Given the description of an element on the screen output the (x, y) to click on. 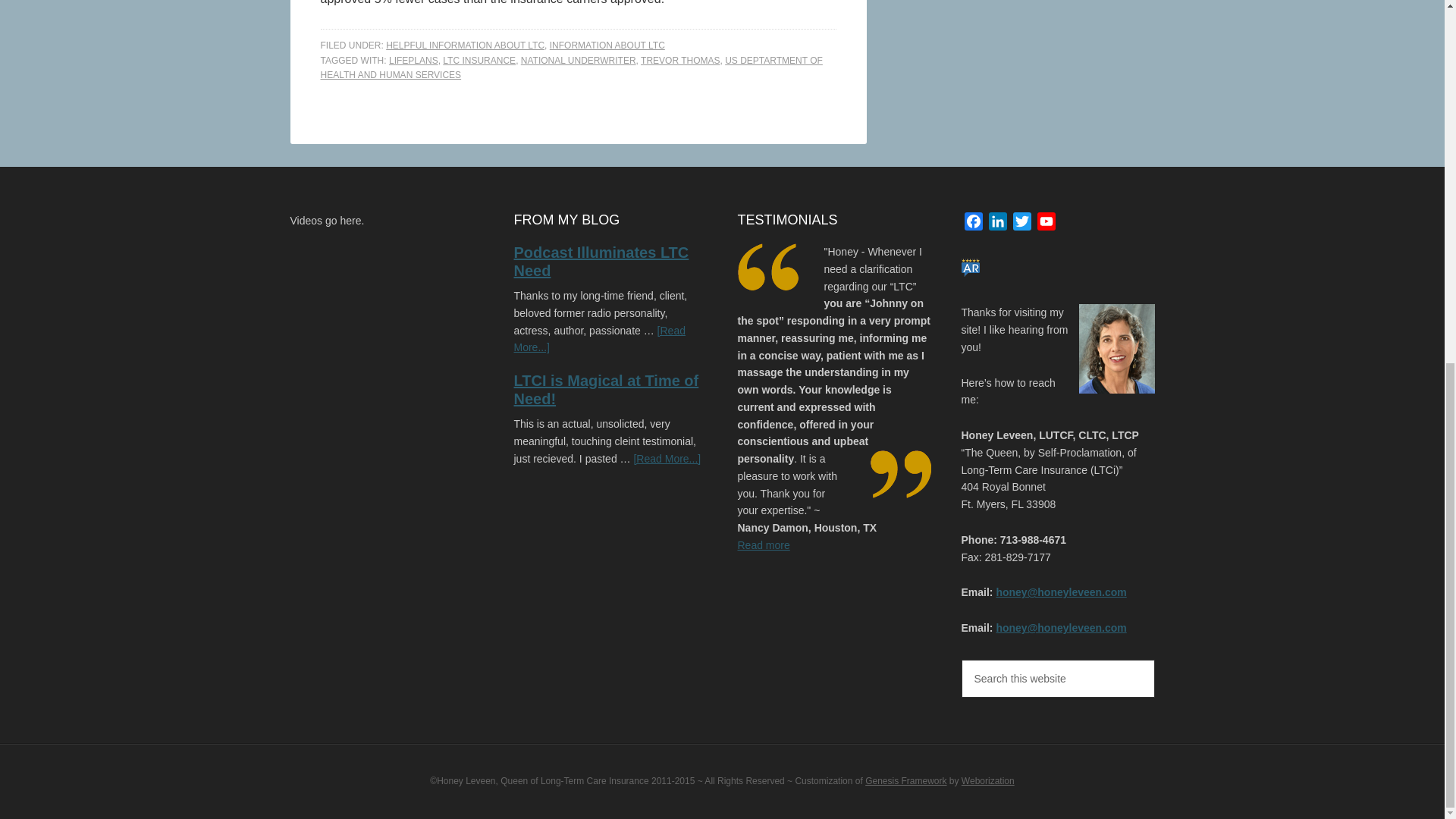
Podcast Illuminates LTC Need (600, 261)
LIFEPLANS (413, 60)
Twitter (1021, 223)
HELPFUL INFORMATION ABOUT LTC (464, 45)
LinkedIn (997, 223)
Facebook (972, 223)
US DEPTARTMENT OF HEALTH AND HUMAN SERVICES (571, 68)
LinkedIn (997, 223)
NATIONAL UNDERWRITER (578, 60)
Facebook (972, 223)
Read more (806, 553)
YouTube (1045, 223)
LTC INSURANCE (478, 60)
INFORMATION ABOUT LTC (607, 45)
